Given the description of an element on the screen output the (x, y) to click on. 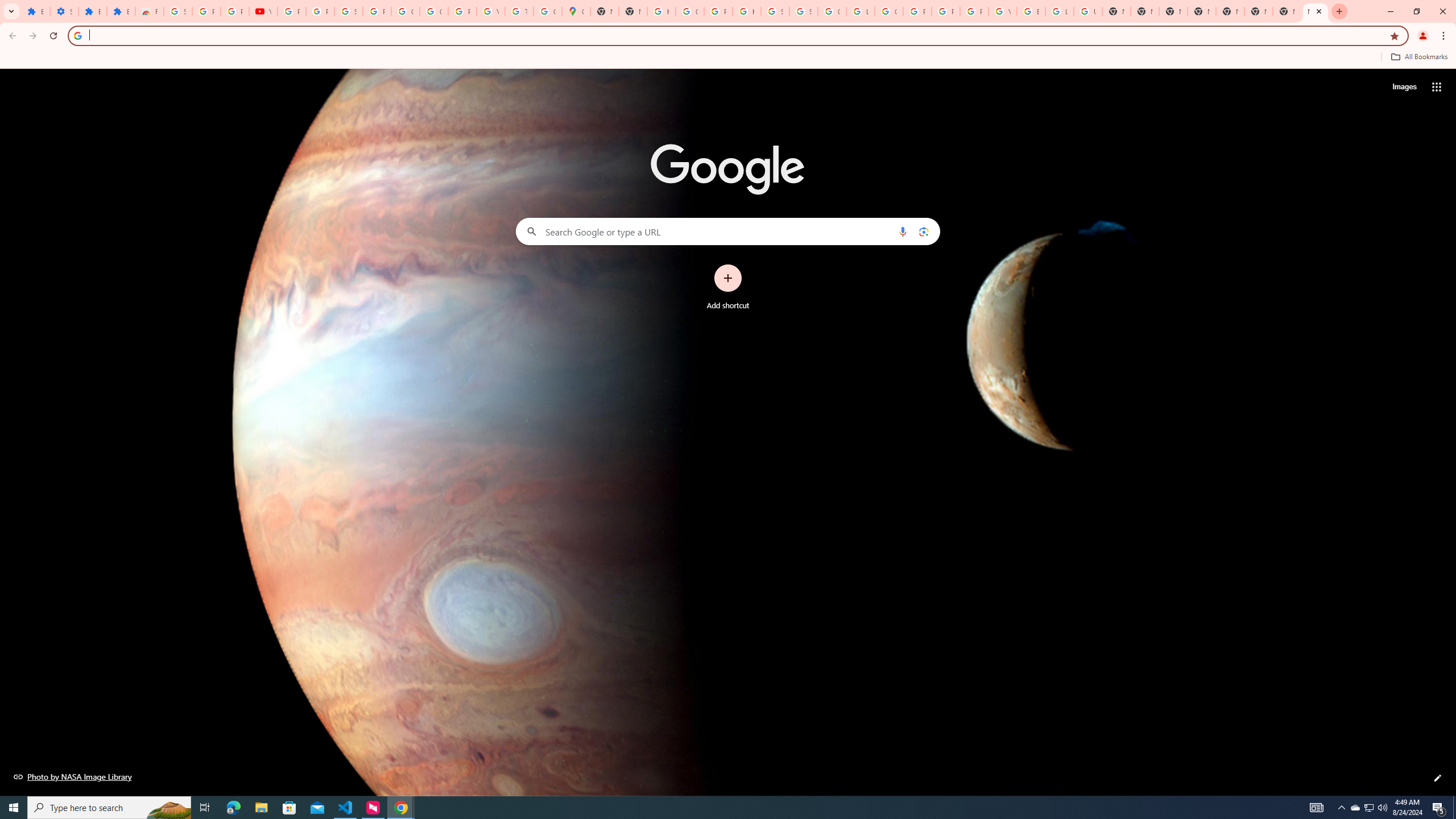
Customize this page (1437, 778)
New Tab (1315, 11)
Search by image (922, 230)
Sign in - Google Accounts (774, 11)
https://scholar.google.com/ (746, 11)
YouTube (1002, 11)
New Tab (1258, 11)
Settings (63, 11)
Privacy Help Center - Policies Help (917, 11)
Sign in - Google Accounts (348, 11)
YouTube (263, 11)
New Tab (1173, 11)
